Given the description of an element on the screen output the (x, y) to click on. 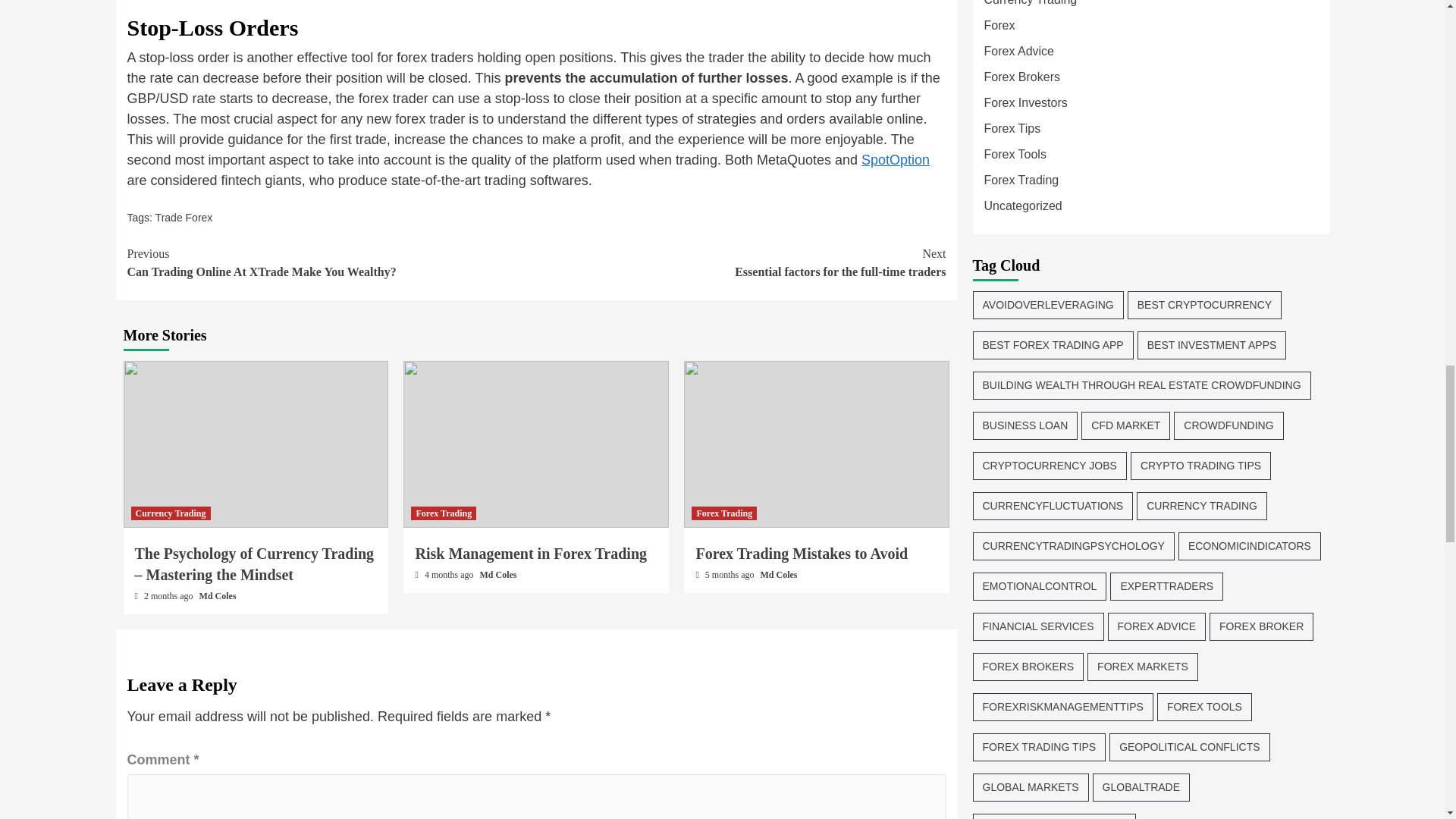
Forex Trading (443, 513)
Md Coles (217, 595)
Forex Trading (724, 513)
Md Coles (332, 262)
Trade Forex (498, 574)
SpotOption (183, 217)
Forex Trading Mistakes to Avoid (895, 159)
Risk Management in Forex Trading (801, 553)
Md Coles (530, 553)
Currency Trading (778, 574)
